Given the description of an element on the screen output the (x, y) to click on. 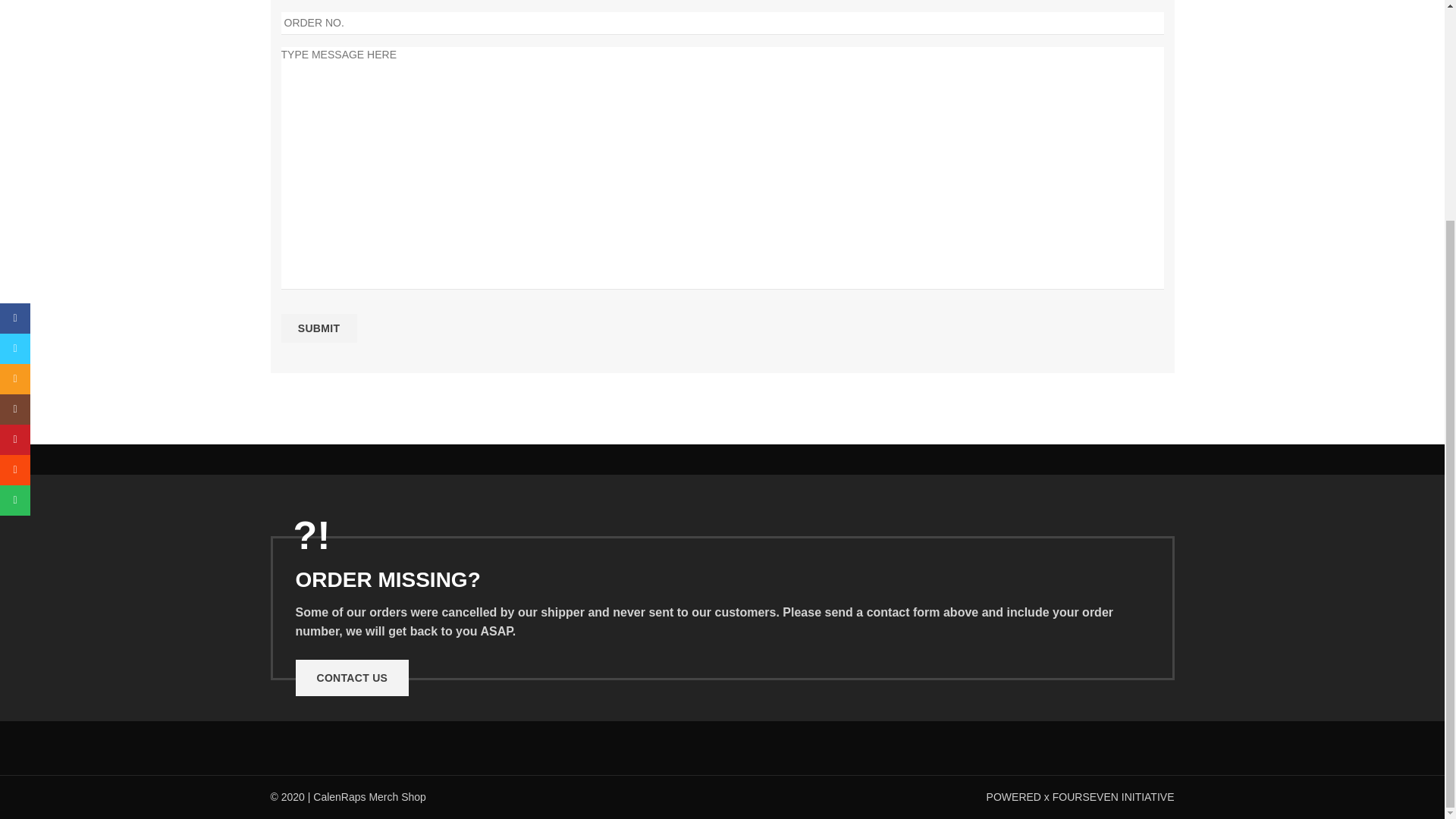
SUBMIT (318, 328)
SUBMIT (318, 328)
CONTACT US (352, 678)
